Given the description of an element on the screen output the (x, y) to click on. 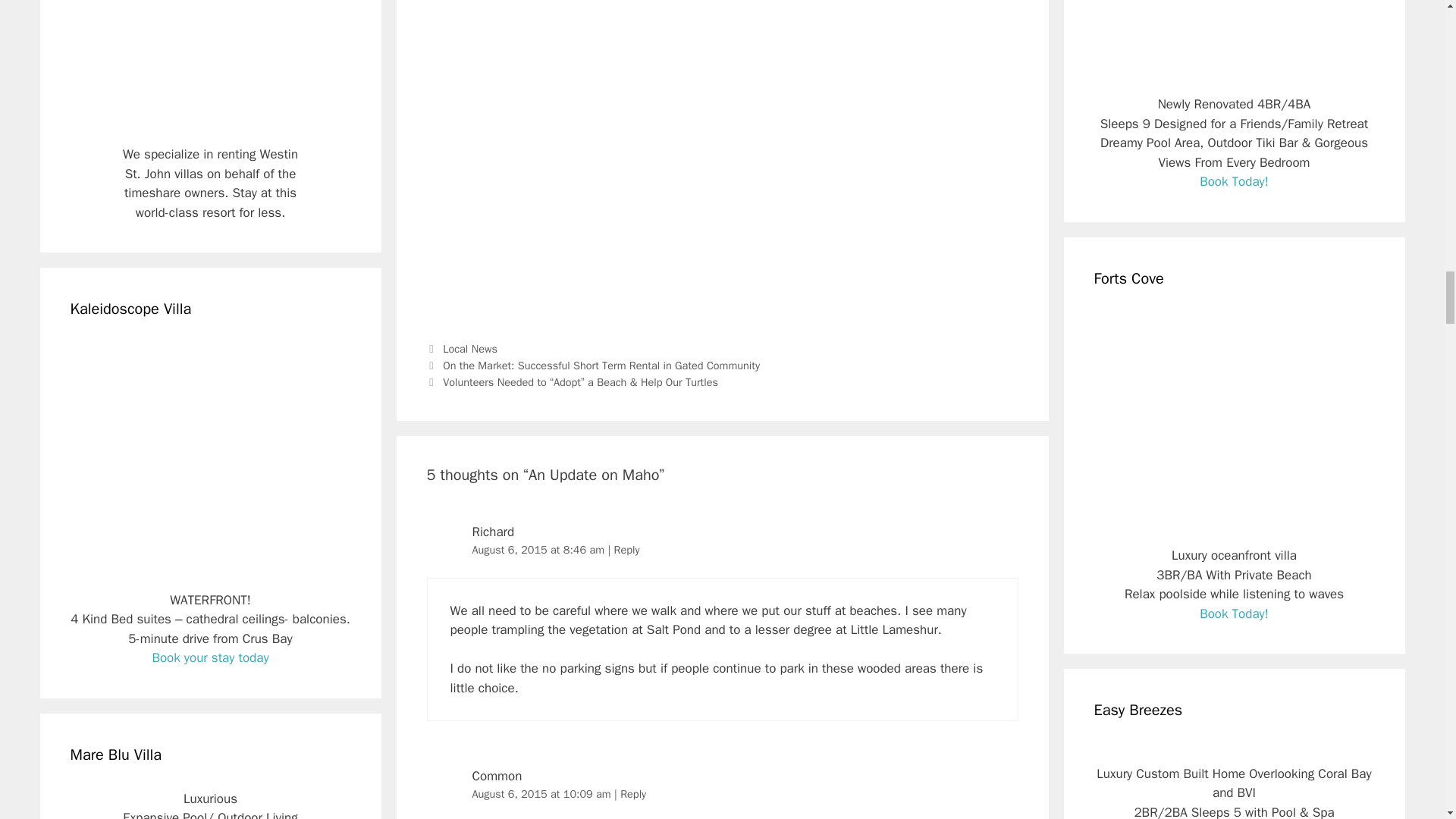
Reply (625, 549)
August 6, 2015 at 10:09 am (542, 793)
Previous (592, 365)
Reply (633, 793)
Next (571, 382)
August 6, 2015 at 8:46 am (539, 549)
Local News (469, 348)
